Given the description of an element on the screen output the (x, y) to click on. 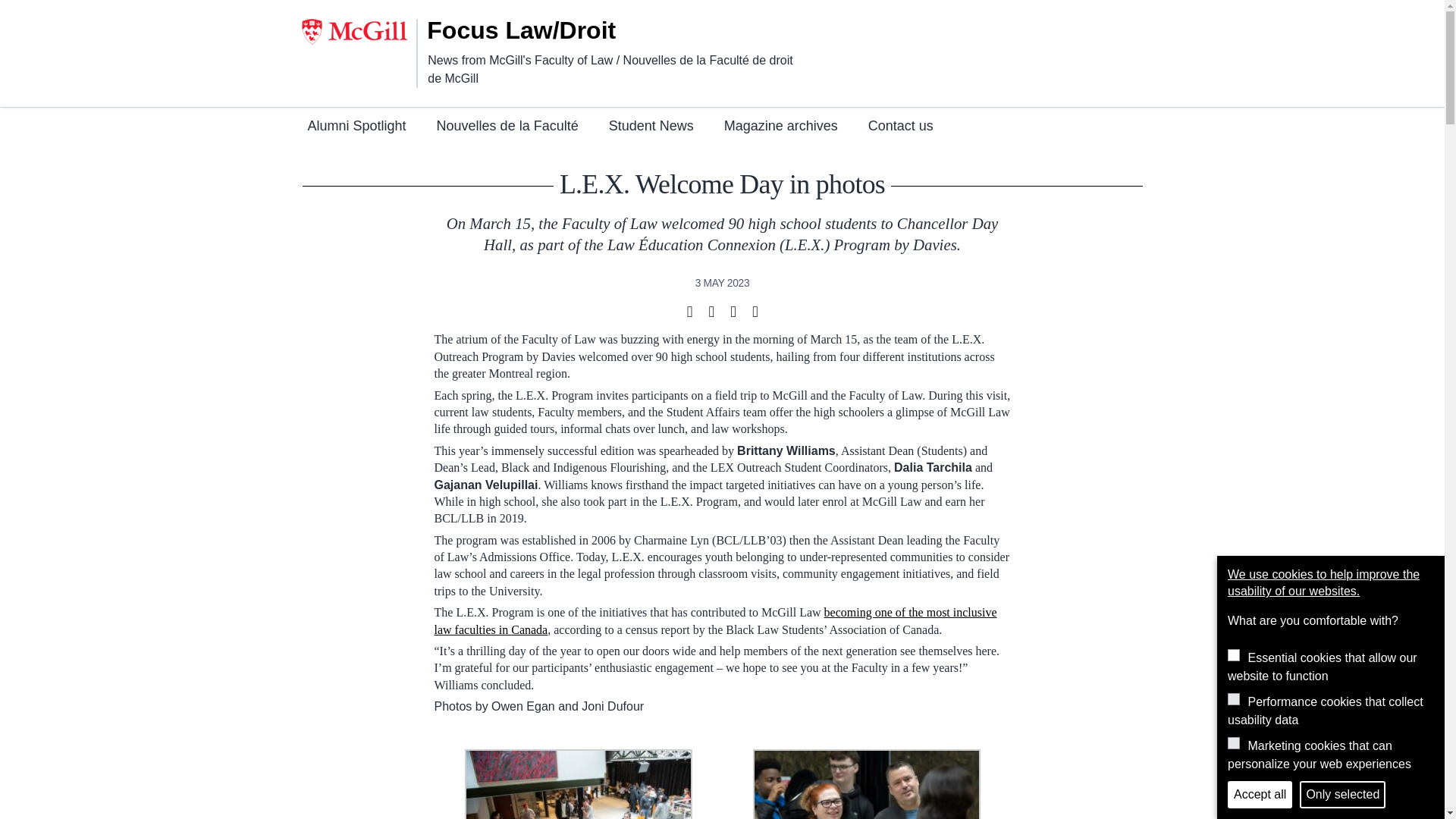
Contact us (900, 128)
Home (540, 30)
marketing (1233, 743)
required (1233, 654)
McGill University (358, 31)
Magazine archives (780, 128)
Student News (651, 128)
becoming one of the most inclusive law faculties in Canada (714, 620)
performance (1233, 698)
Search (1102, 24)
